Given the description of an element on the screen output the (x, y) to click on. 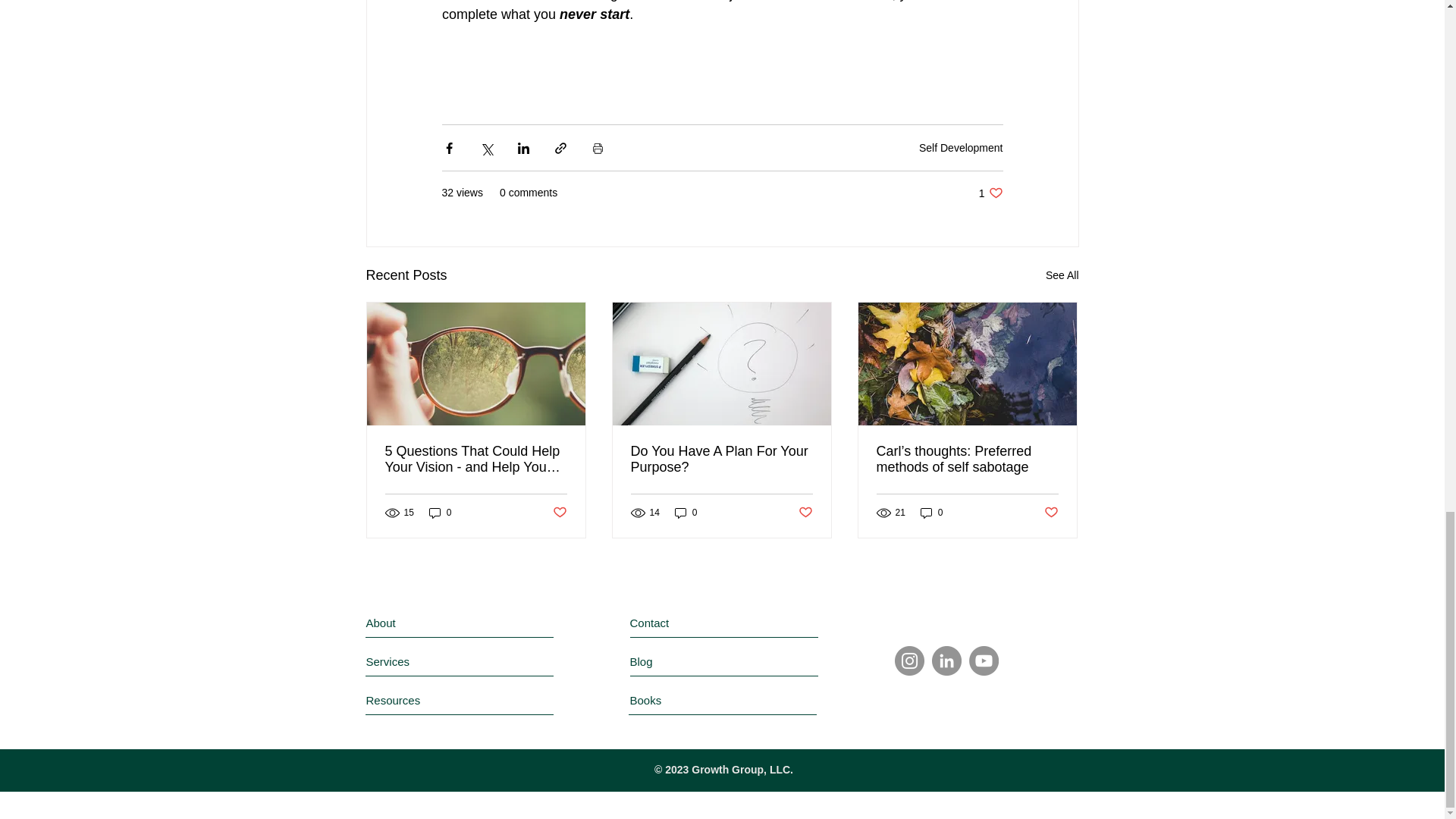
0 (990, 192)
See All (440, 513)
Self Development (1061, 275)
